Given the description of an element on the screen output the (x, y) to click on. 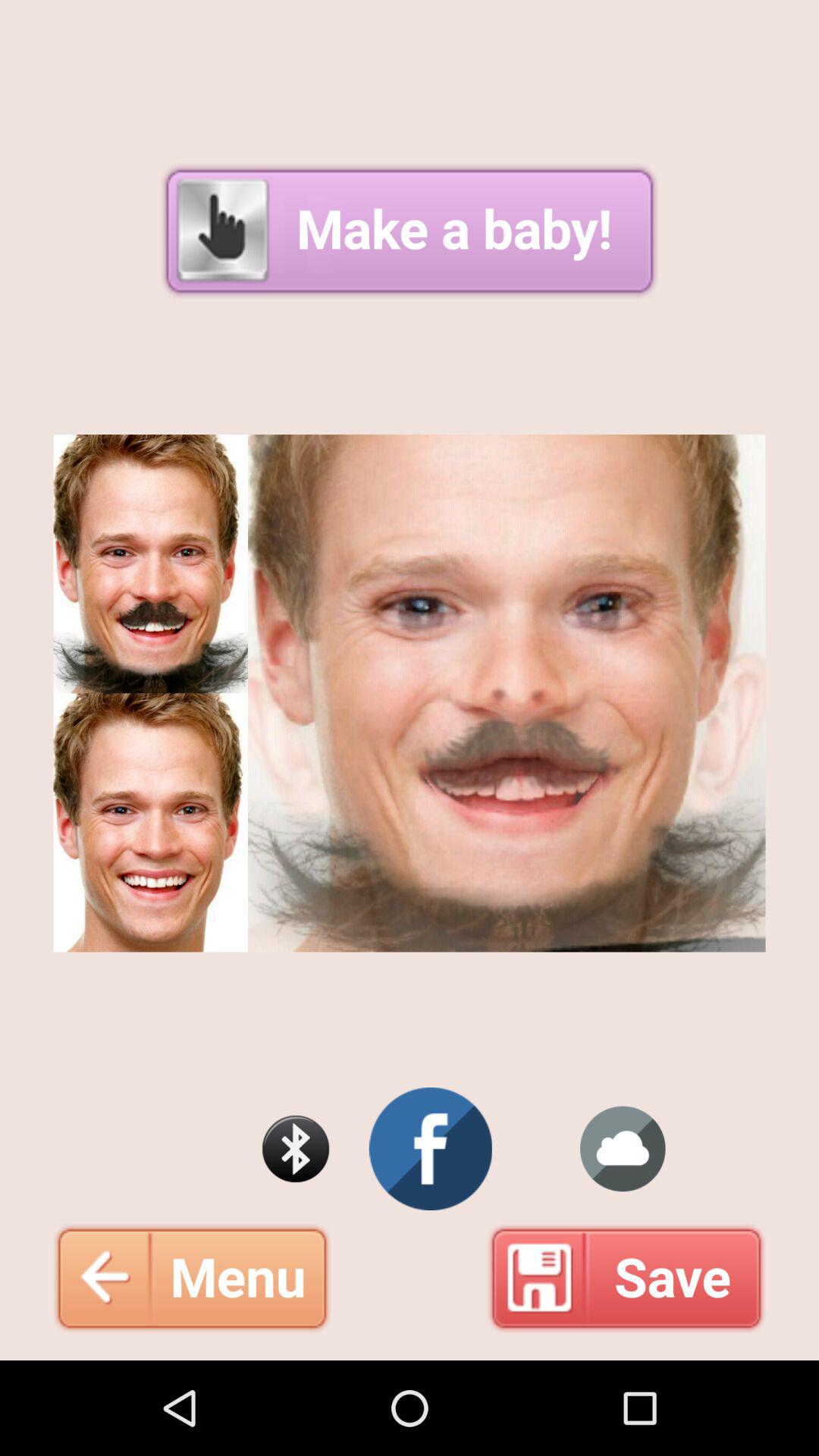
facebook button (430, 1148)
